Given the description of an element on the screen output the (x, y) to click on. 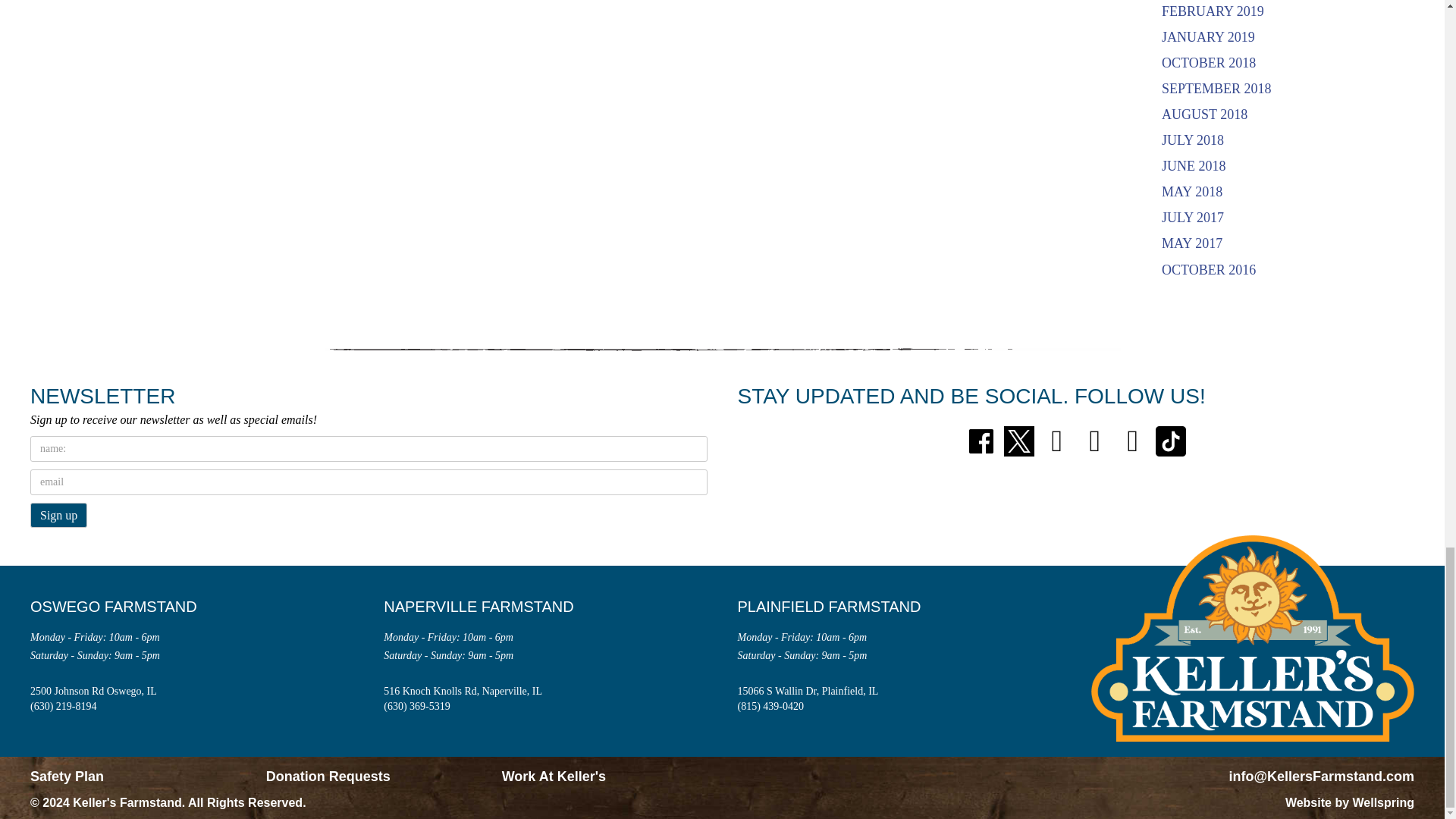
Sign up (58, 514)
tiktok-share-icon-black-logo-29FFD062A0-seeklogo.com (1171, 440)
Oswego Farmstand (124, 606)
Plainfield Farmstand (839, 606)
Naperville Farmstand (489, 606)
X-black copy (1018, 440)
